Given the description of an element on the screen output the (x, y) to click on. 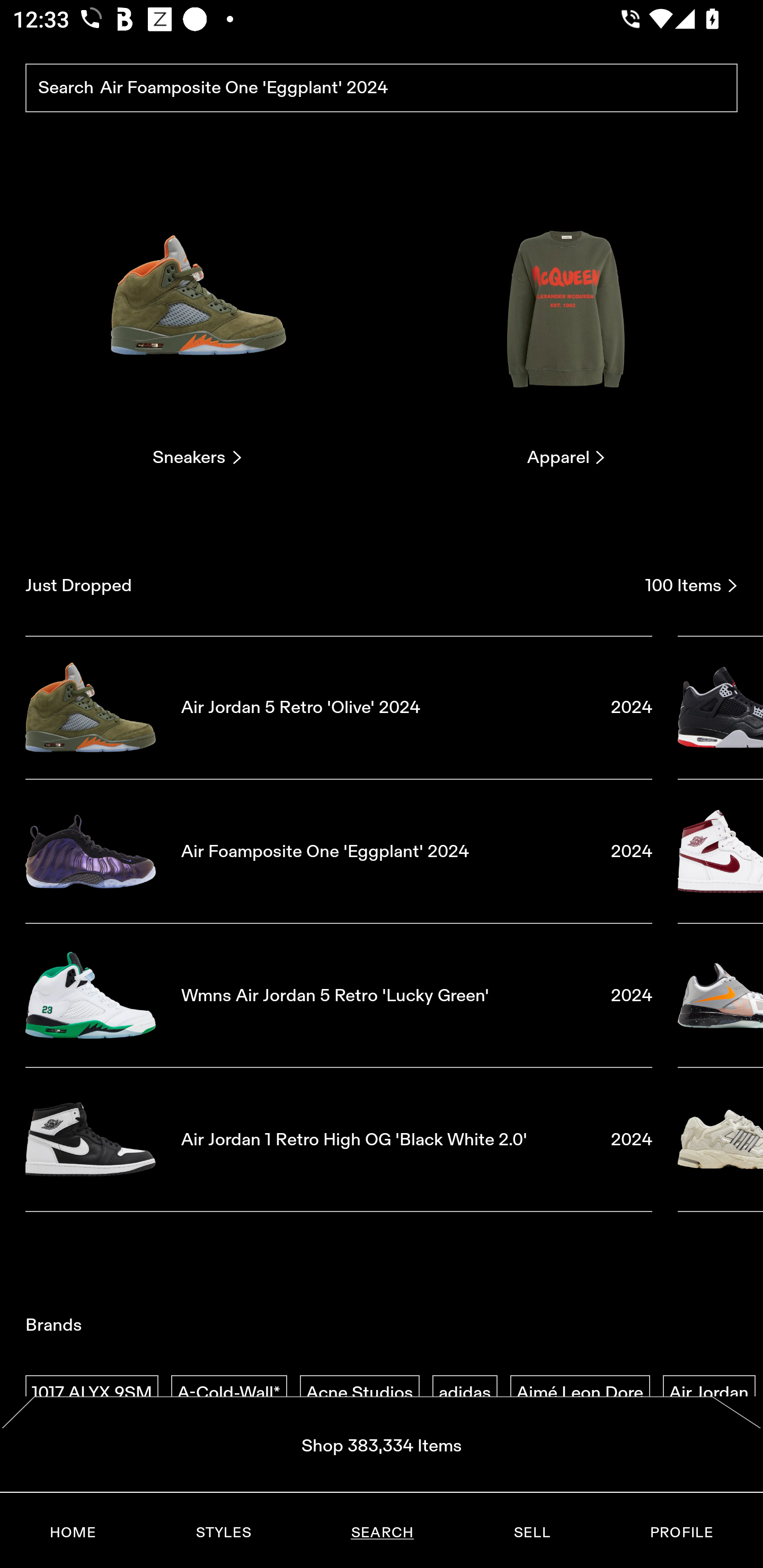
Search (381, 88)
Sneakers (196, 323)
Apparel (565, 323)
Just Dropped (328, 585)
100 Items (691, 585)
Air Jordan 5 Retro 'Olive' 2024 2024 (338, 707)
Air Foamposite One 'Eggplant' 2024 2024 (338, 851)
Wmns Air Jordan 5 Retro 'Lucky Green' 2024 (338, 995)
Air Jordan 1 Retro High OG 'Black White 2.0' 2024 (338, 1139)
1017 ALYX 9SM (91, 1393)
A-Cold-Wall* (228, 1393)
Acne Studios (359, 1393)
adidas (464, 1393)
Aimé Leon Dore (580, 1393)
Air Jordan (709, 1393)
HOME (72, 1532)
STYLES (222, 1532)
SEARCH (381, 1532)
SELL (531, 1532)
PROFILE (681, 1532)
